Given the description of an element on the screen output the (x, y) to click on. 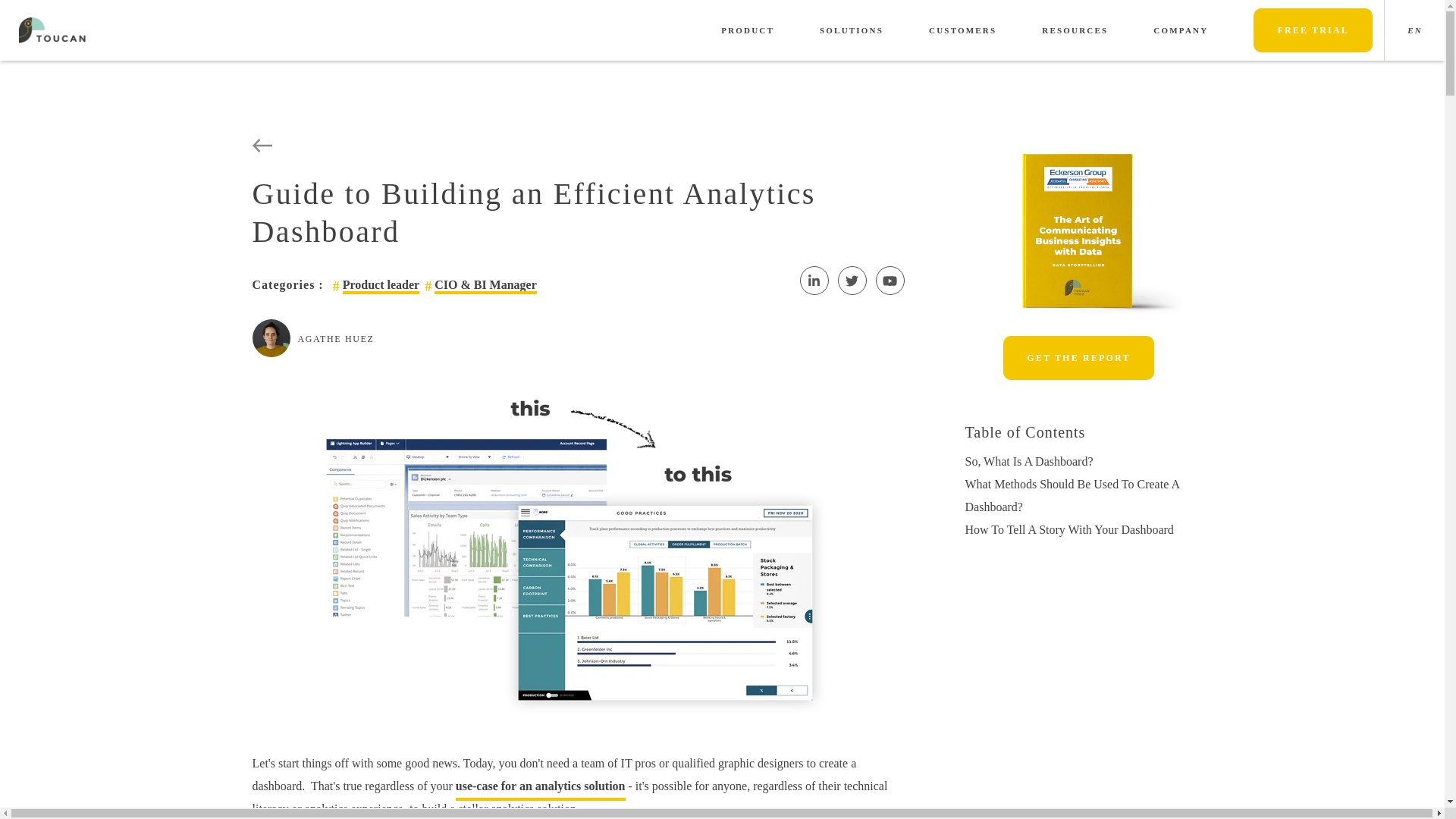
Share on Twitter (851, 280)
Share on LinkedIn (813, 280)
FREE TRIAL (1313, 30)
RESOURCES (1075, 29)
Get the report (1078, 357)
CUSTOMERS (961, 29)
SOLUTIONS (851, 29)
PRODUCT (747, 29)
